Given the description of an element on the screen output the (x, y) to click on. 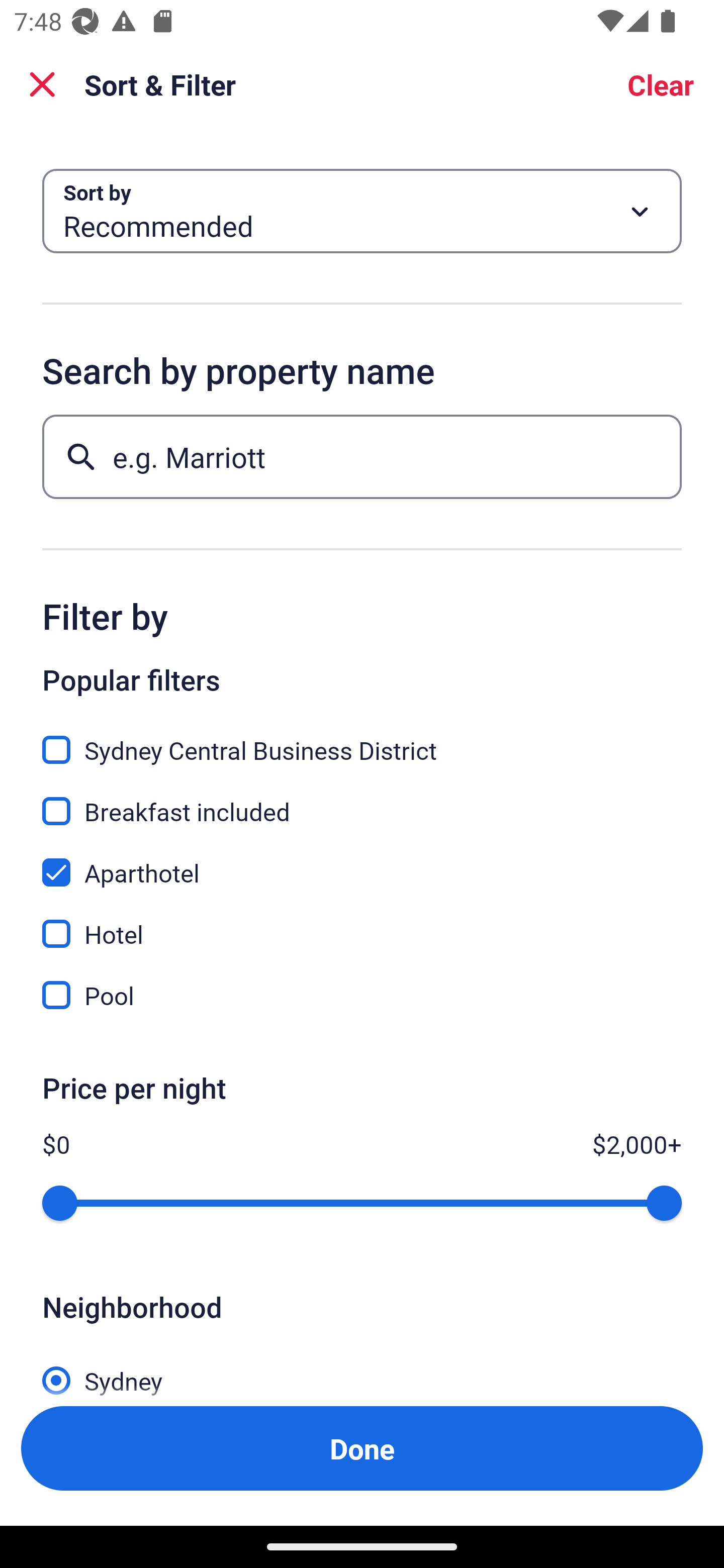
Close Sort and Filter (42, 84)
Clear (660, 84)
Sort by Button Recommended (361, 211)
e.g. Marriott Button (361, 455)
Breakfast included, Breakfast included (361, 800)
Aparthotel, Aparthotel (361, 861)
Hotel, Hotel (361, 922)
Pool, Pool (361, 995)
Apply and close Sort and Filter Done (361, 1448)
